Given the description of an element on the screen output the (x, y) to click on. 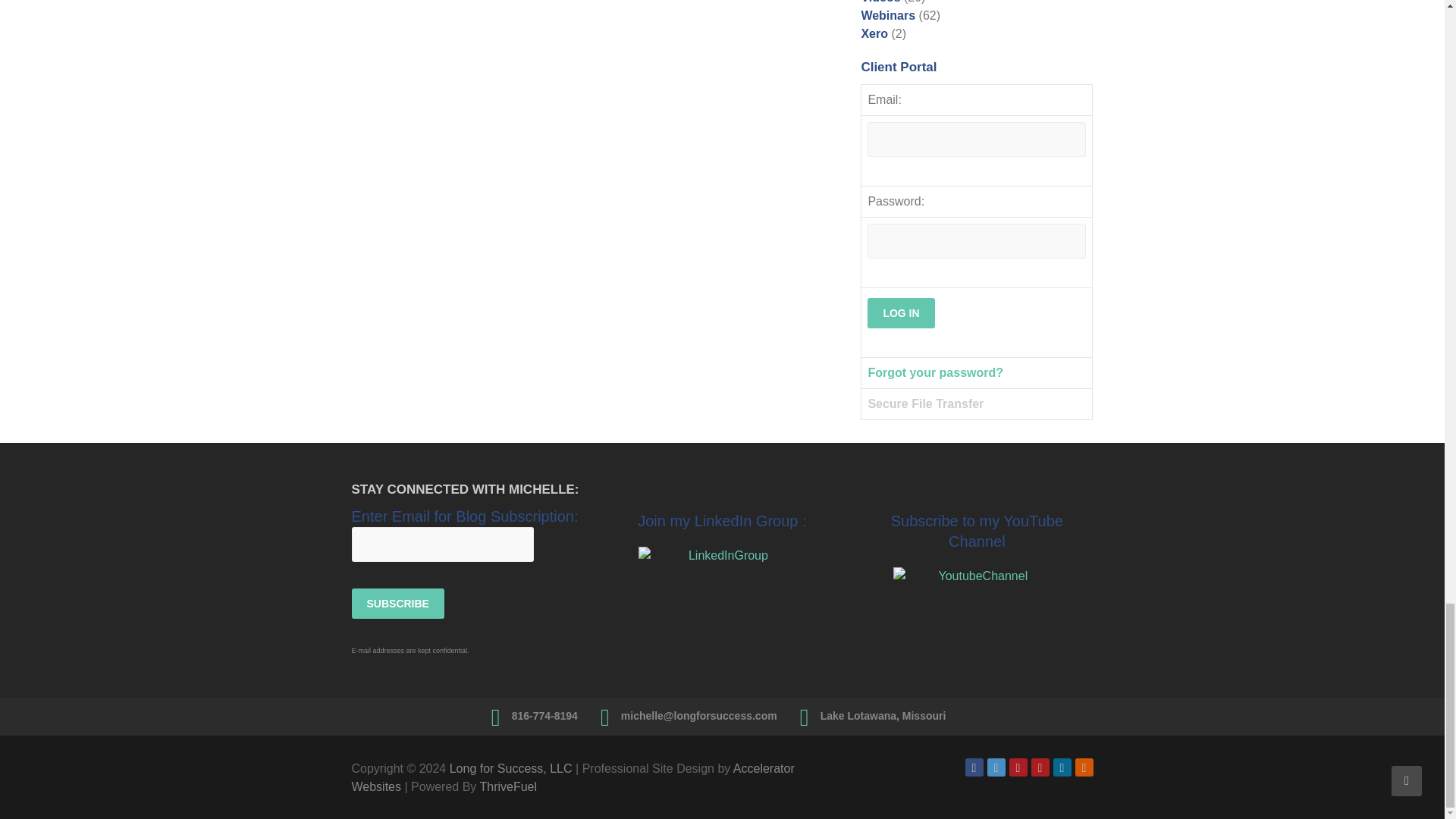
Log In (900, 313)
Subscribe (398, 603)
